Given the description of an element on the screen output the (x, y) to click on. 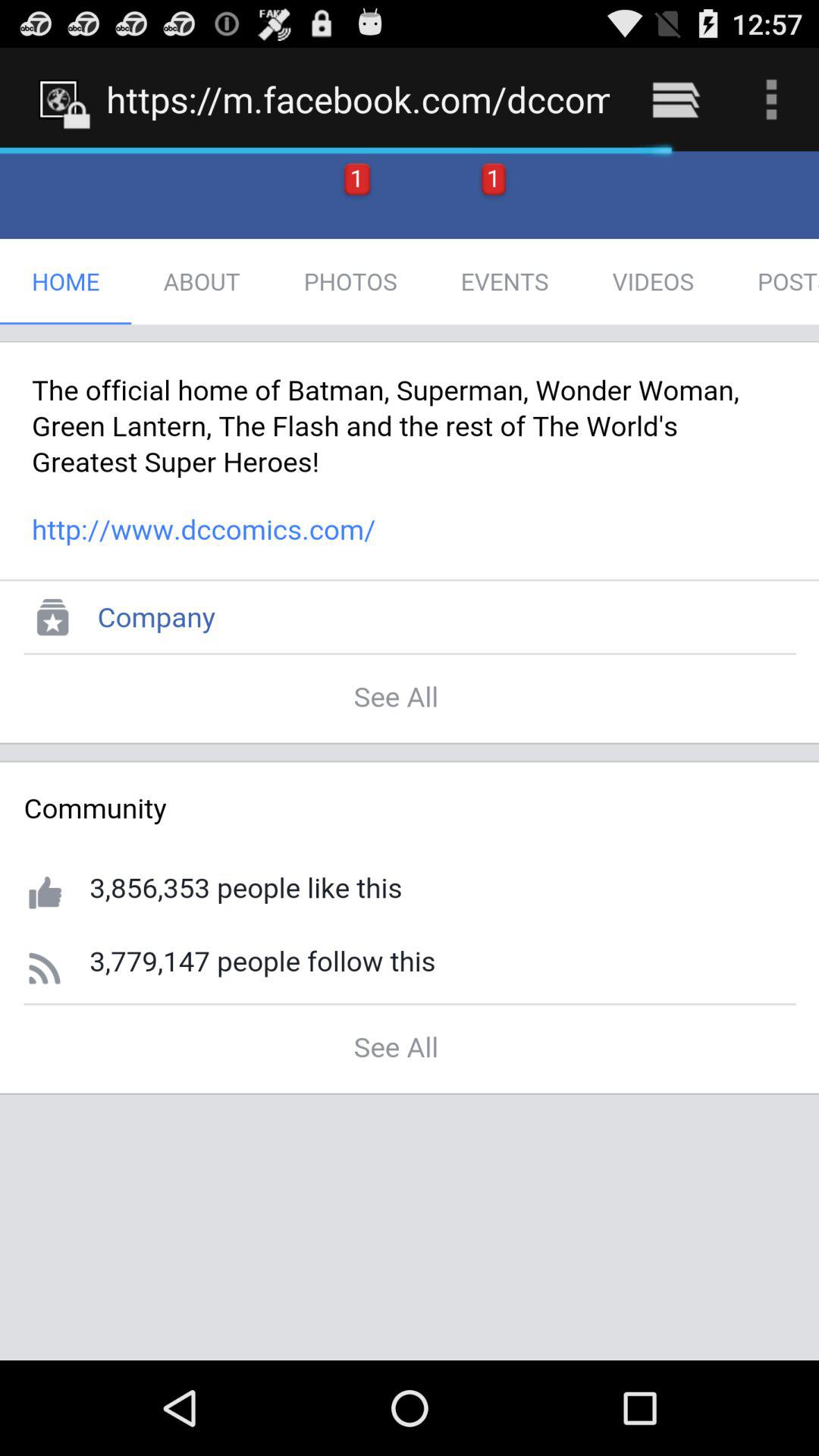
launch the item next to https m facebook (675, 99)
